Given the description of an element on the screen output the (x, y) to click on. 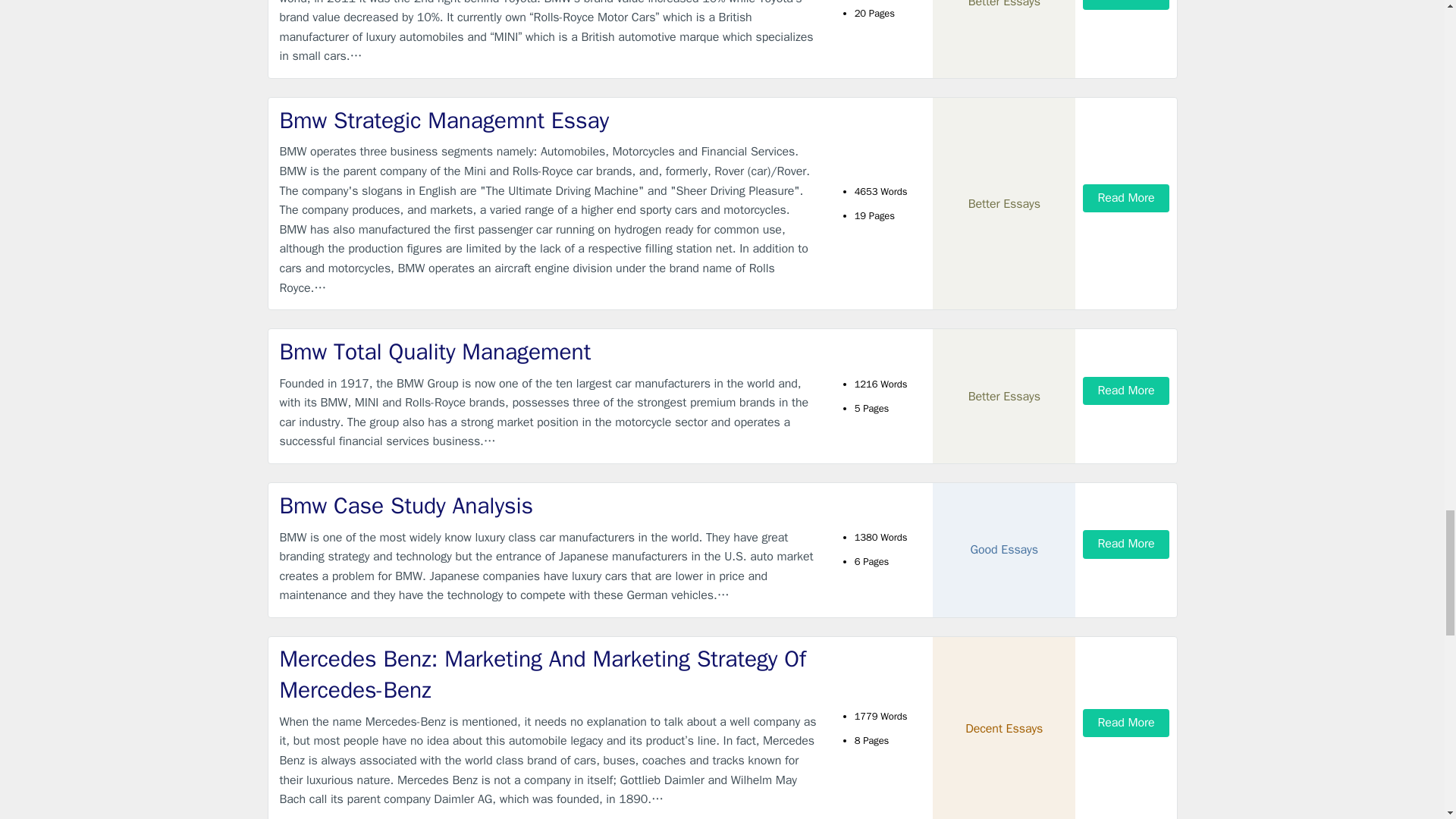
Read More (1126, 197)
Read More (1126, 4)
Bmw Strategic Managemnt Essay (548, 120)
